Given the description of an element on the screen output the (x, y) to click on. 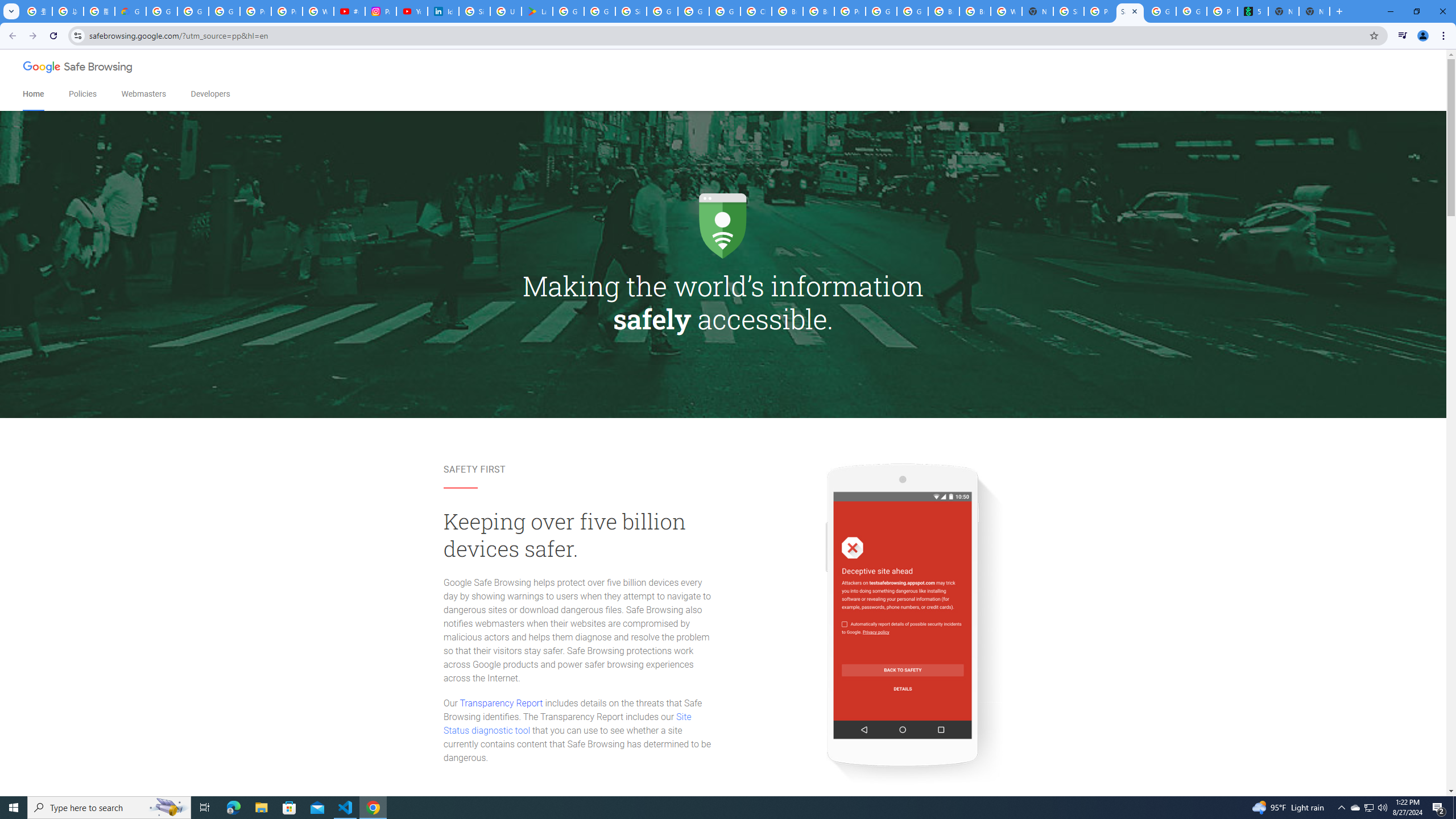
Google Cloud Platform (693, 11)
Browse Chrome as a guest - Computer - Google Chrome Help (787, 11)
